Given the description of an element on the screen output the (x, y) to click on. 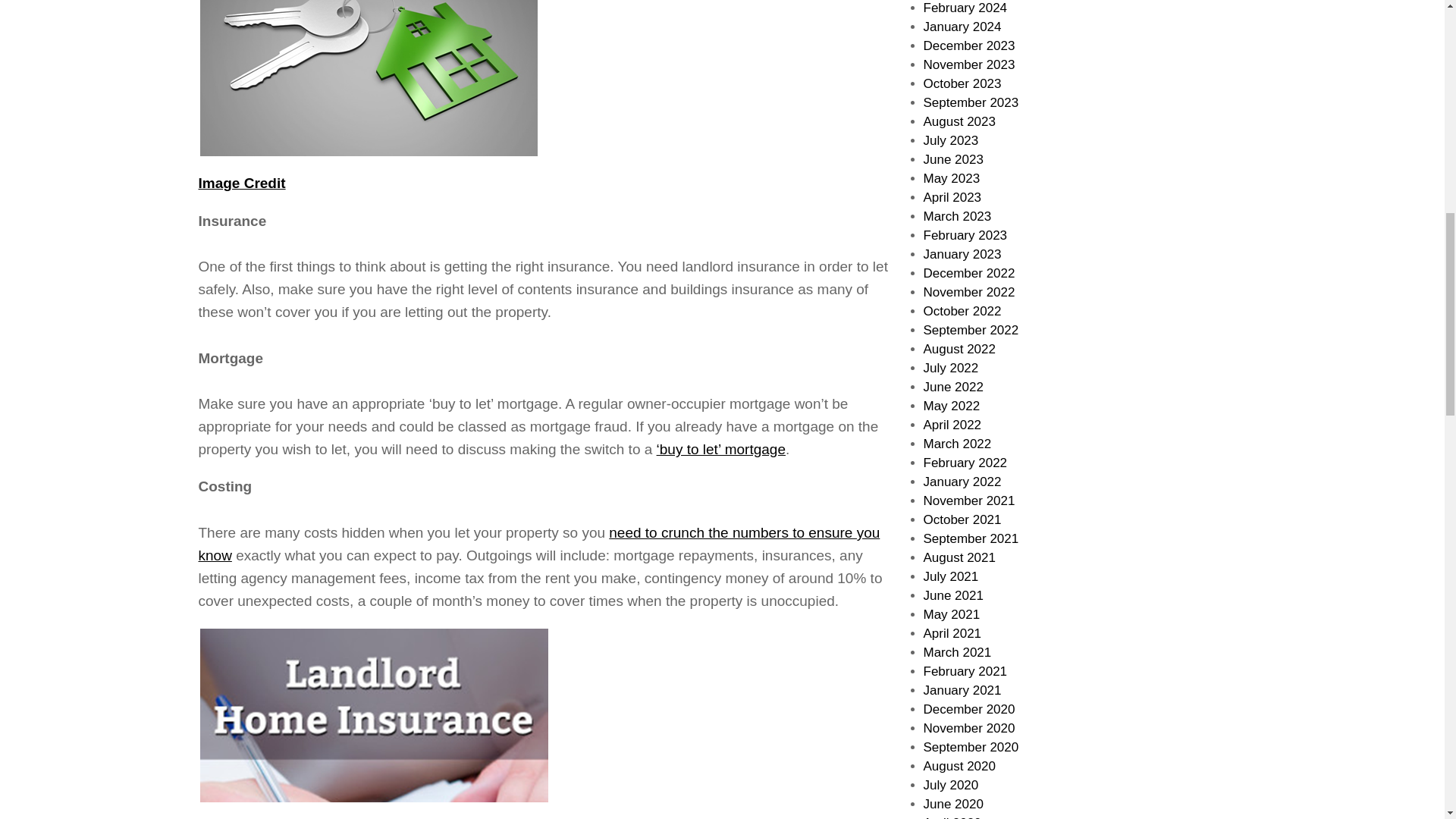
need to crunch the numbers to ensure you know (539, 543)
Image Credit (241, 182)
